Given the description of an element on the screen output the (x, y) to click on. 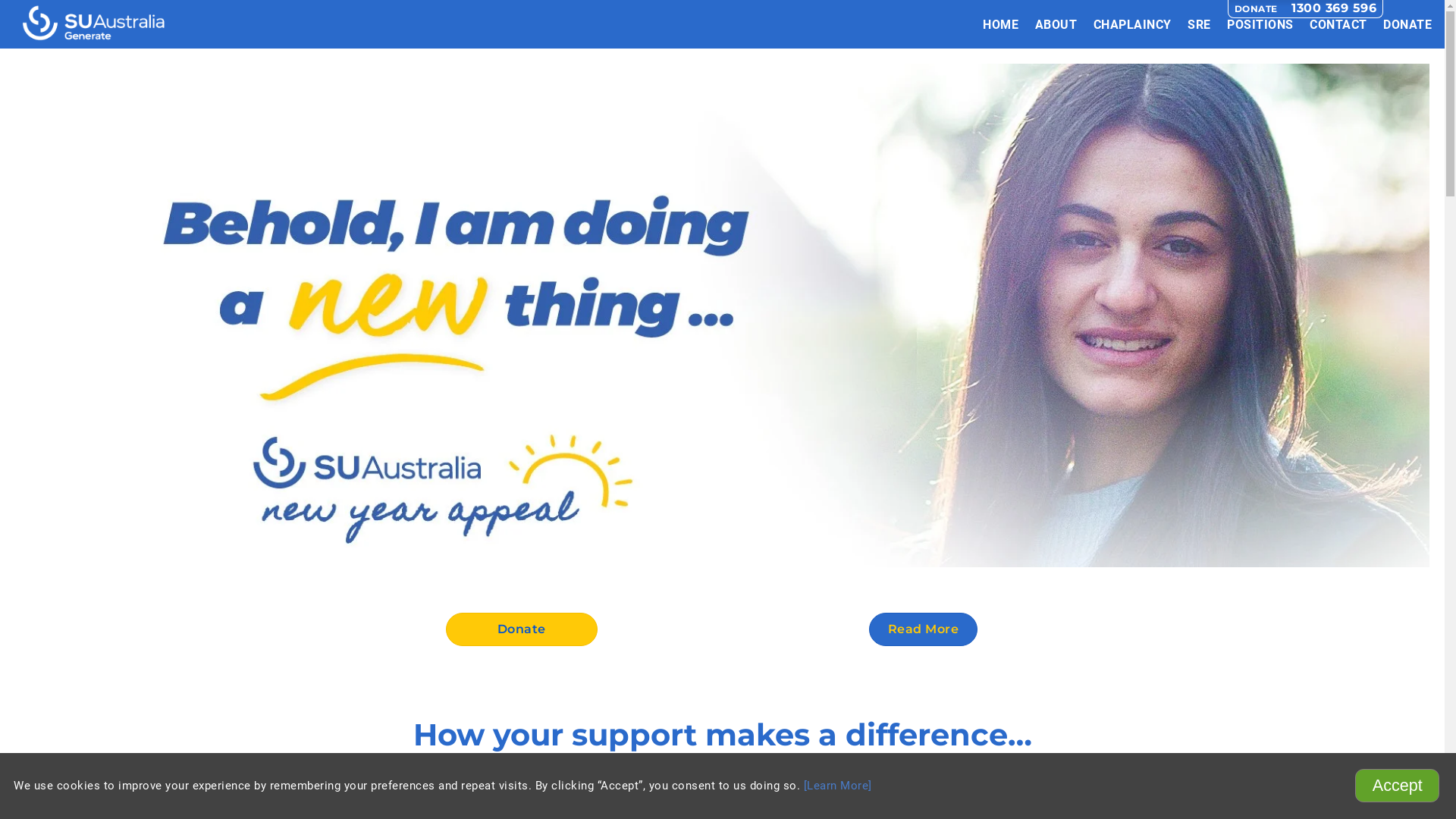
DONATE Element type: text (1407, 24)
Donate Element type: text (521, 629)
HOME Element type: text (1000, 24)
Accept Element type: text (1397, 785)
ABOUT Element type: text (1055, 24)
Read More Element type: text (923, 629)
[Learn More] Element type: text (837, 785)
POSITIONS Element type: text (1259, 24)
CONTACT Element type: text (1338, 24)
CHAPLAINCY Element type: text (1132, 24)
SRE Element type: text (1199, 24)
00-NYAppeal23-banner-Generateslim Element type: hover (722, 315)
